Given the description of an element on the screen output the (x, y) to click on. 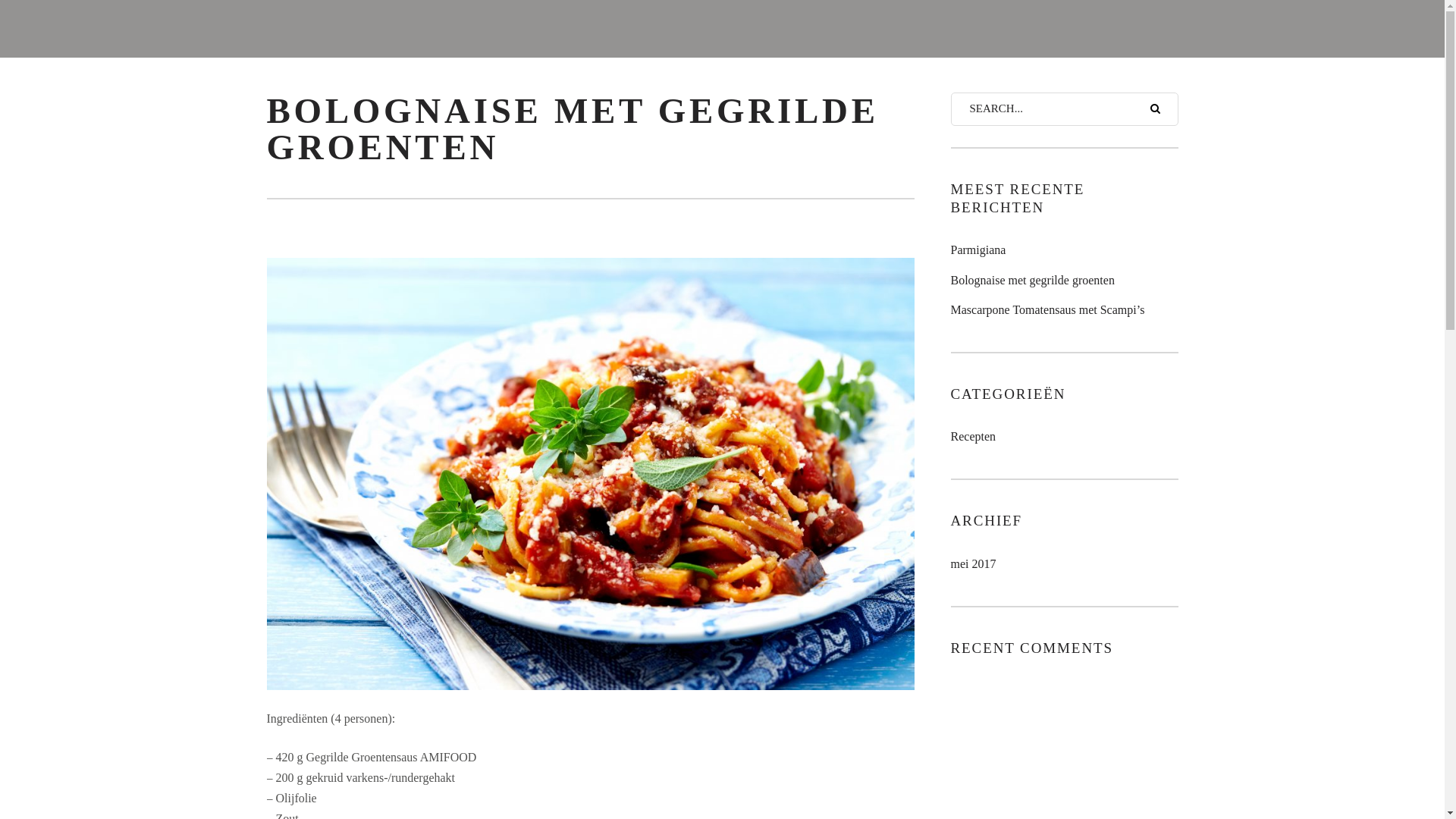
AMIFOOD SA Element type: hover (722, 28)
Parmigiana Element type: text (1064, 249)
Recepten Element type: text (973, 436)
mei 2017 Element type: text (973, 563)
Bolognaise met gegrilde groenten Element type: text (1064, 279)
